Given the description of an element on the screen output the (x, y) to click on. 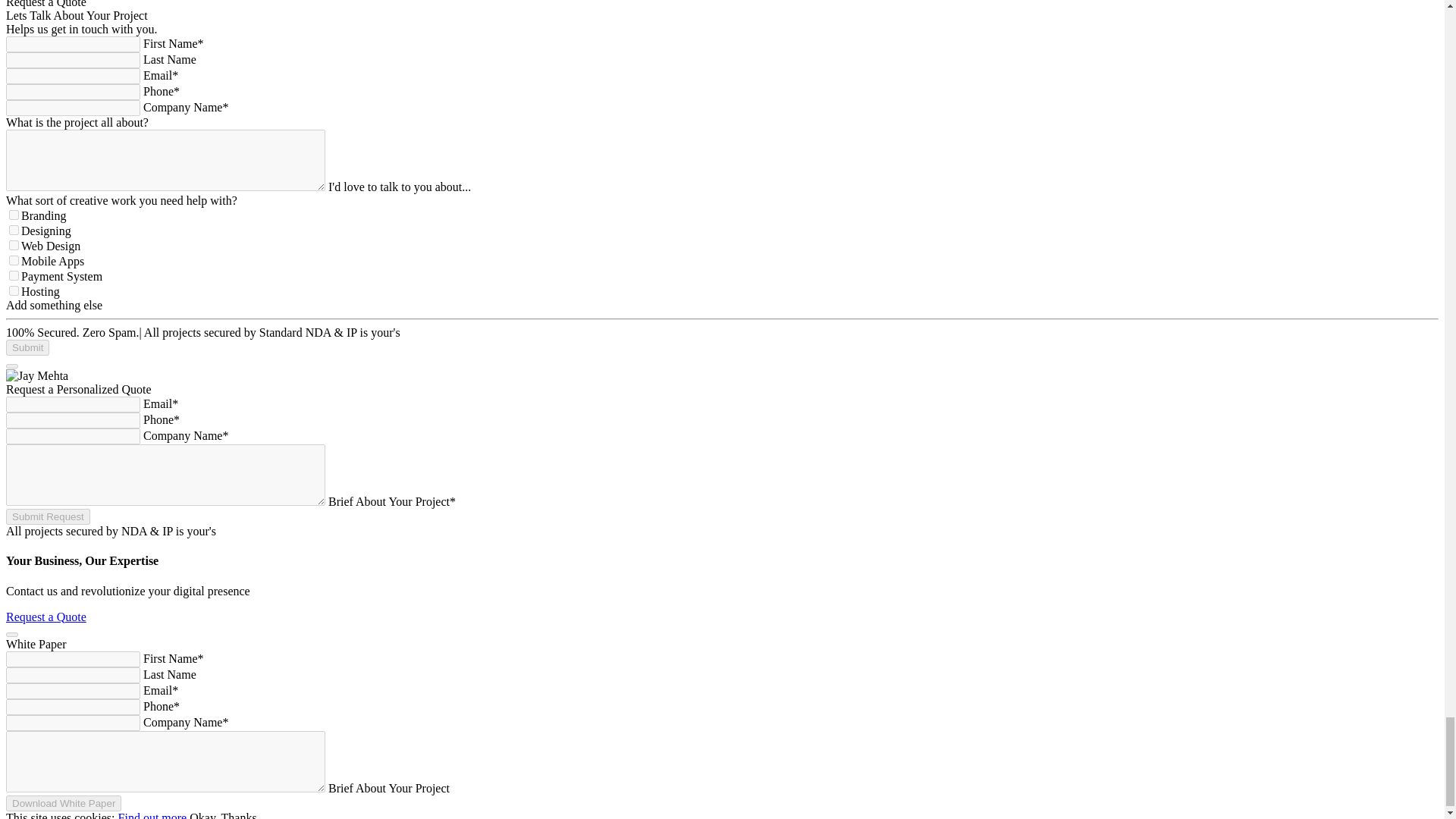
Designing (13, 230)
Branding (13, 214)
Mobile Apps (13, 260)
Hosting (13, 290)
Payment System (13, 275)
Web Design (13, 245)
